Given the description of an element on the screen output the (x, y) to click on. 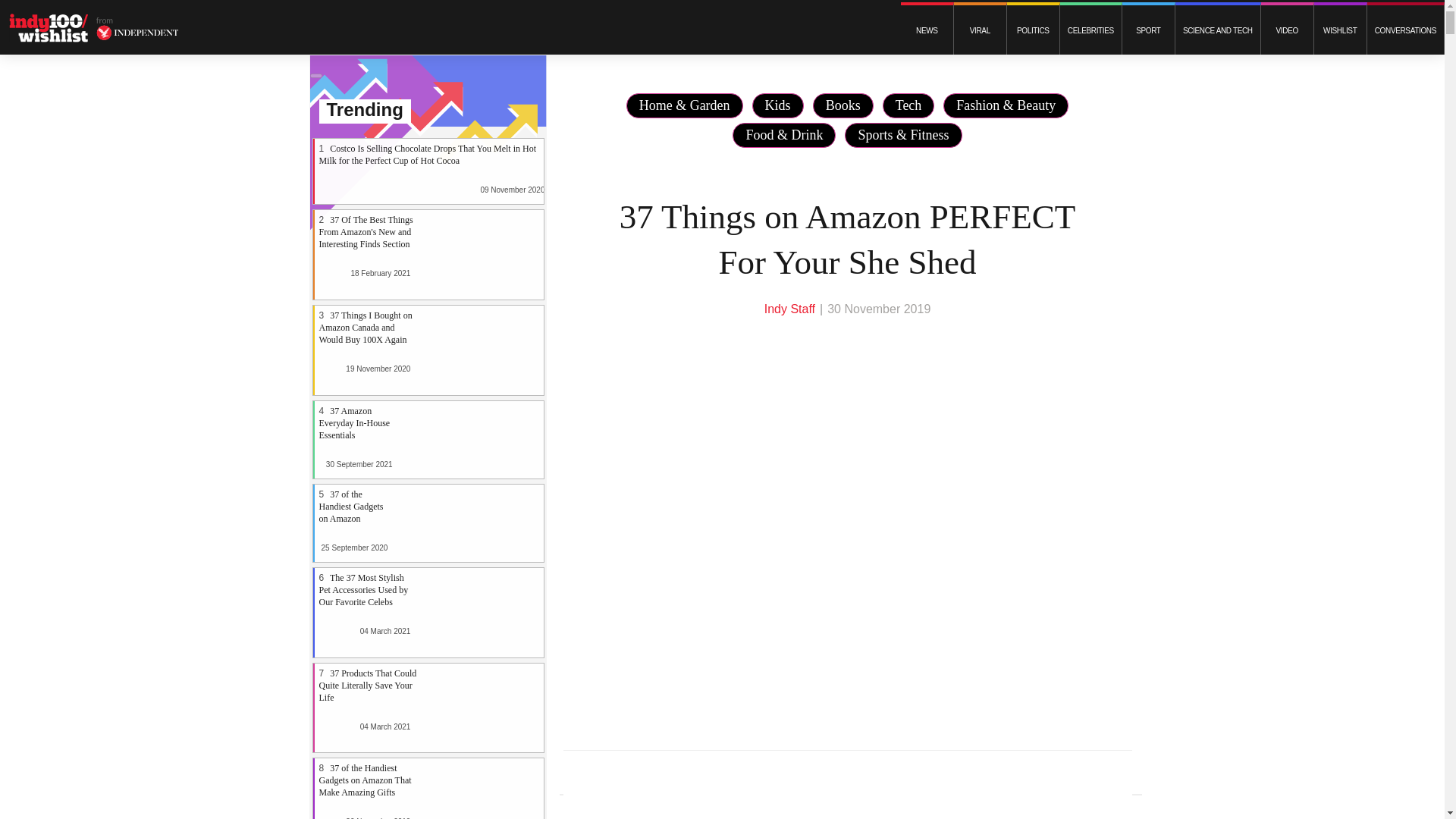
Video (1286, 30)
Celebrities (1090, 30)
Books (842, 105)
POLITICS (1033, 30)
VIDEO (1286, 30)
CELEBRITIES (1090, 30)
Science and Tech (1217, 30)
Tech (908, 105)
Viral (979, 30)
Kids (777, 105)
